Given the description of an element on the screen output the (x, y) to click on. 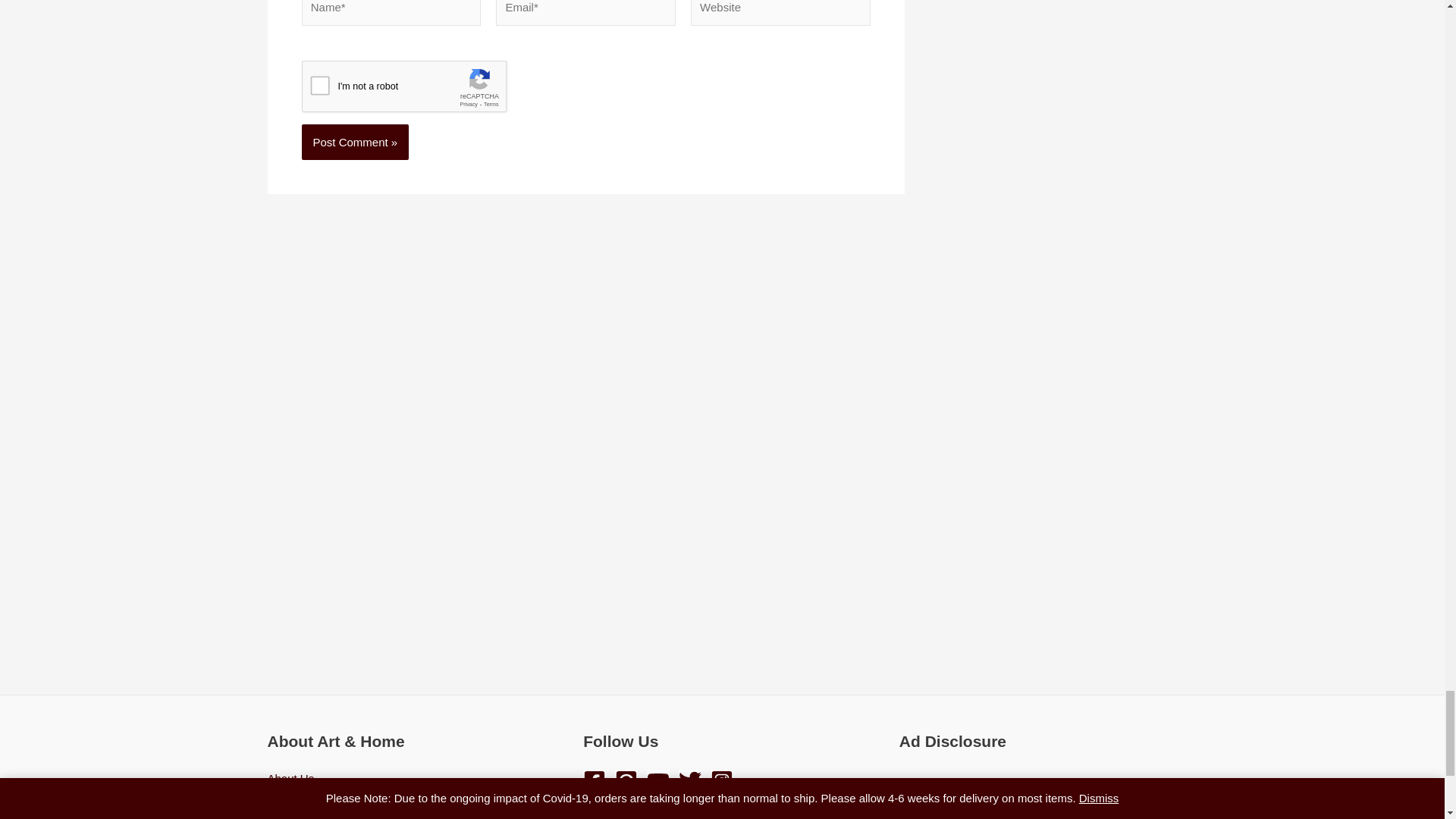
reCAPTCHA (416, 89)
